Given the description of an element on the screen output the (x, y) to click on. 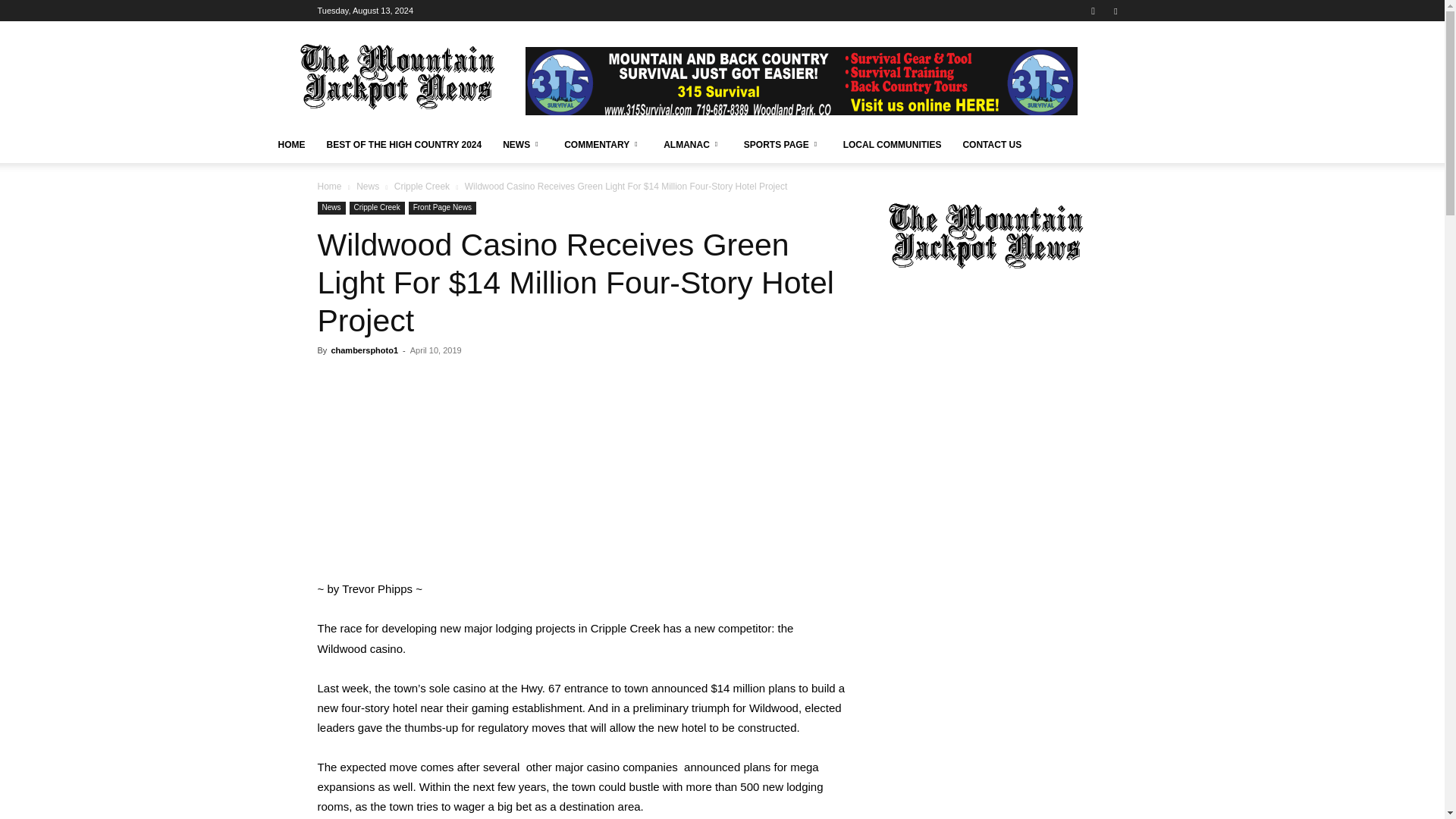
SPORTS PAGE (782, 144)
View all posts in News (367, 185)
Search (1085, 64)
ALMANAC (692, 144)
Facebook (1114, 10)
COMMENTARY (602, 144)
NEWS (522, 144)
BEST OF THE HIGH COUNTRY 2024 (403, 144)
HOME (290, 144)
View all posts in Cripple Creek (421, 185)
